Given the description of an element on the screen output the (x, y) to click on. 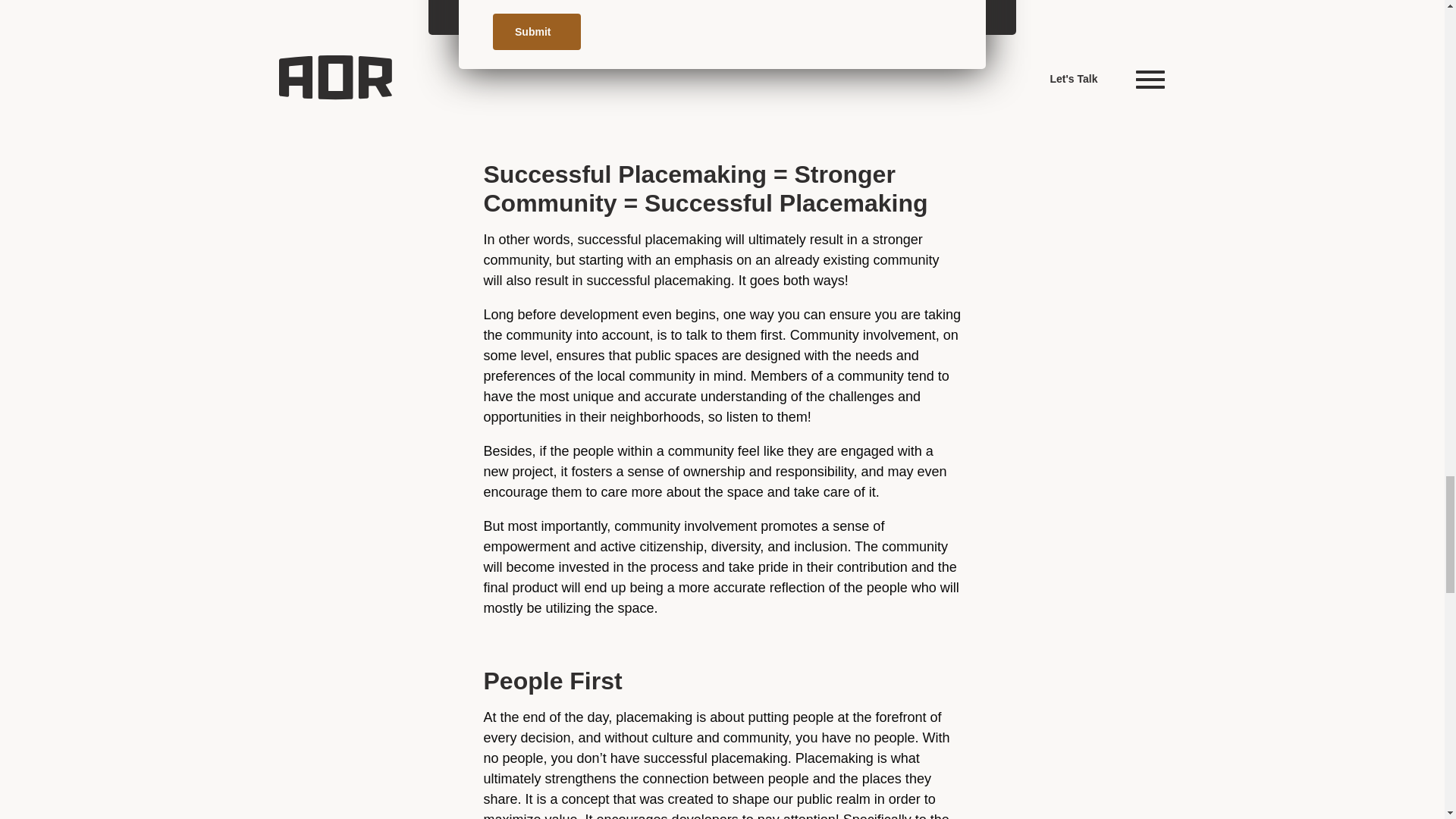
Submit (536, 31)
Submit (536, 31)
